Given the description of an element on the screen output the (x, y) to click on. 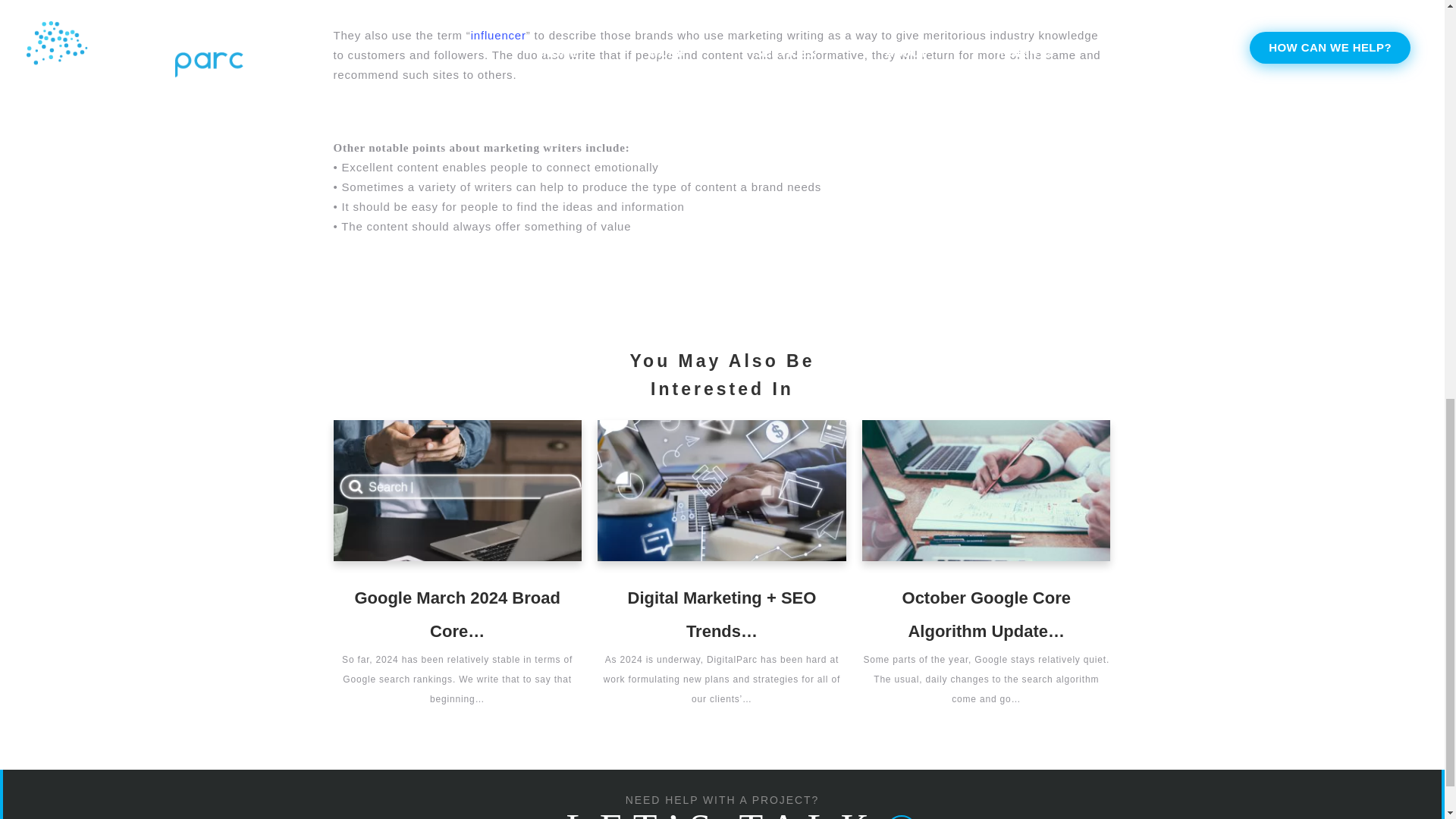
influencer (497, 34)
